Given the description of an element on the screen output the (x, y) to click on. 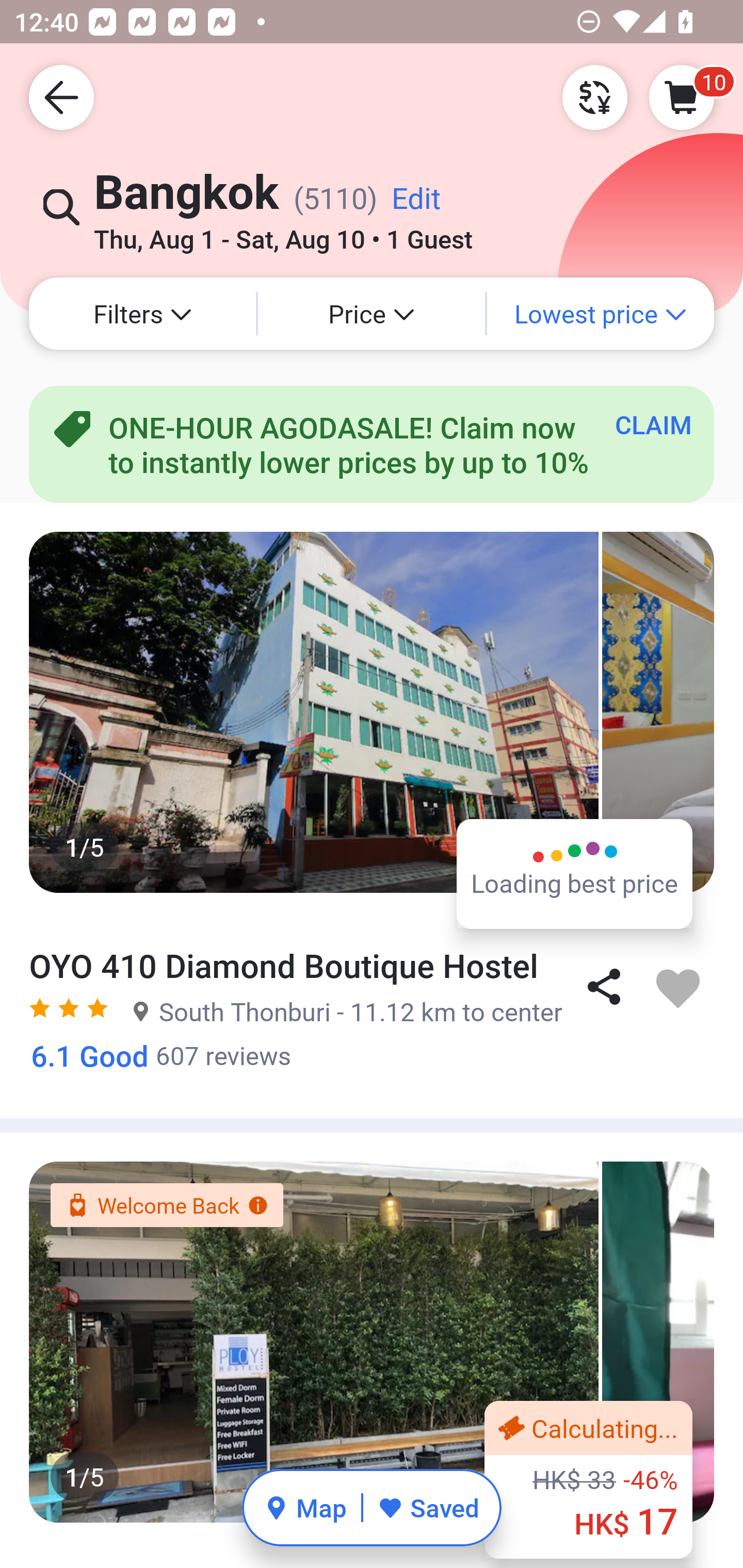
Thu, Aug 1 - Sat, Aug 10 • 1 Guest (283, 232)
Filters (141, 313)
Price (371, 313)
Lowest price (600, 313)
CLAIM (653, 424)
1/5 (371, 711)
Loading best price (574, 873)
1/5 (371, 1341)
Welcome Back (166, 1204)
Calculating... ‪HK$ 33 -46% ‪HK$ 17 (588, 1479)
Map (305, 1507)
Saved (428, 1507)
